Given the description of an element on the screen output the (x, y) to click on. 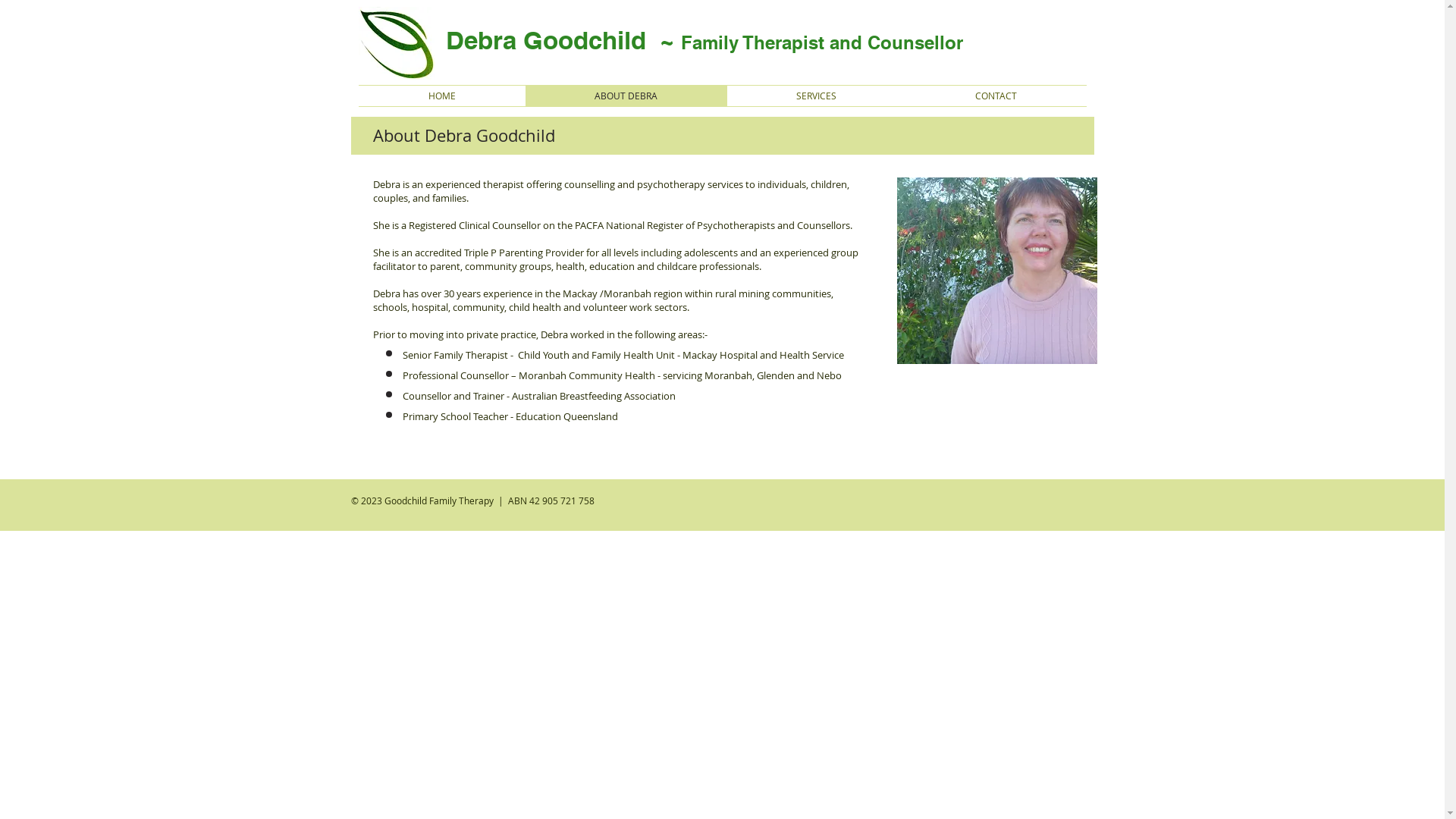
Debra Goodchild  ~ Element type: text (562, 40)
SERVICES Element type: text (815, 95)
ABOUT DEBRA Element type: text (625, 95)
CONTACT Element type: text (995, 95)
HOME Element type: text (440, 95)
Debra Goodchild Family Therapy Element type: hover (996, 270)
business logo.jpg Element type: hover (395, 43)
Family Therapist and Counsellor Element type: text (821, 42)
